Given the description of an element on the screen output the (x, y) to click on. 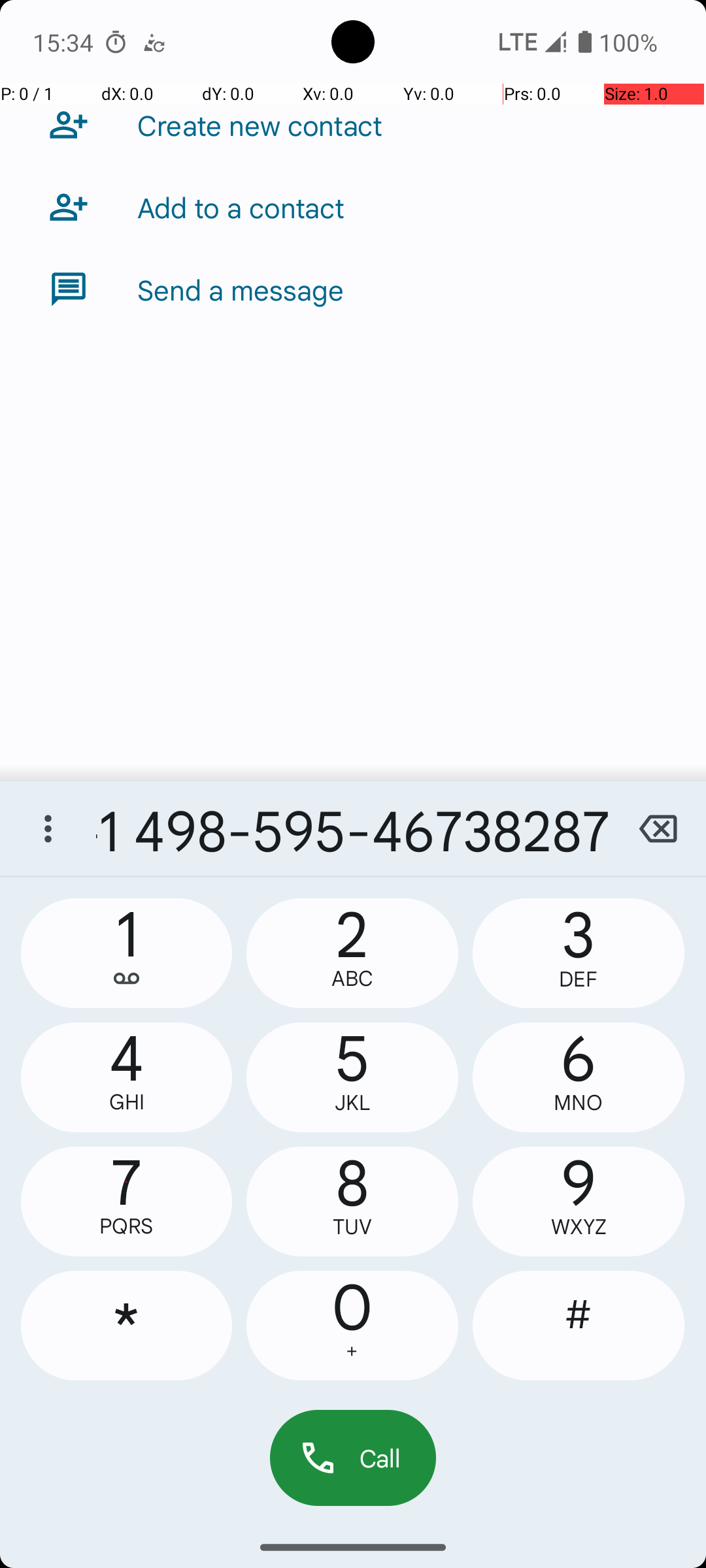
+1 498-595-46738287 Element type: android.widget.EditText (352, 828)
